Given the description of an element on the screen output the (x, y) to click on. 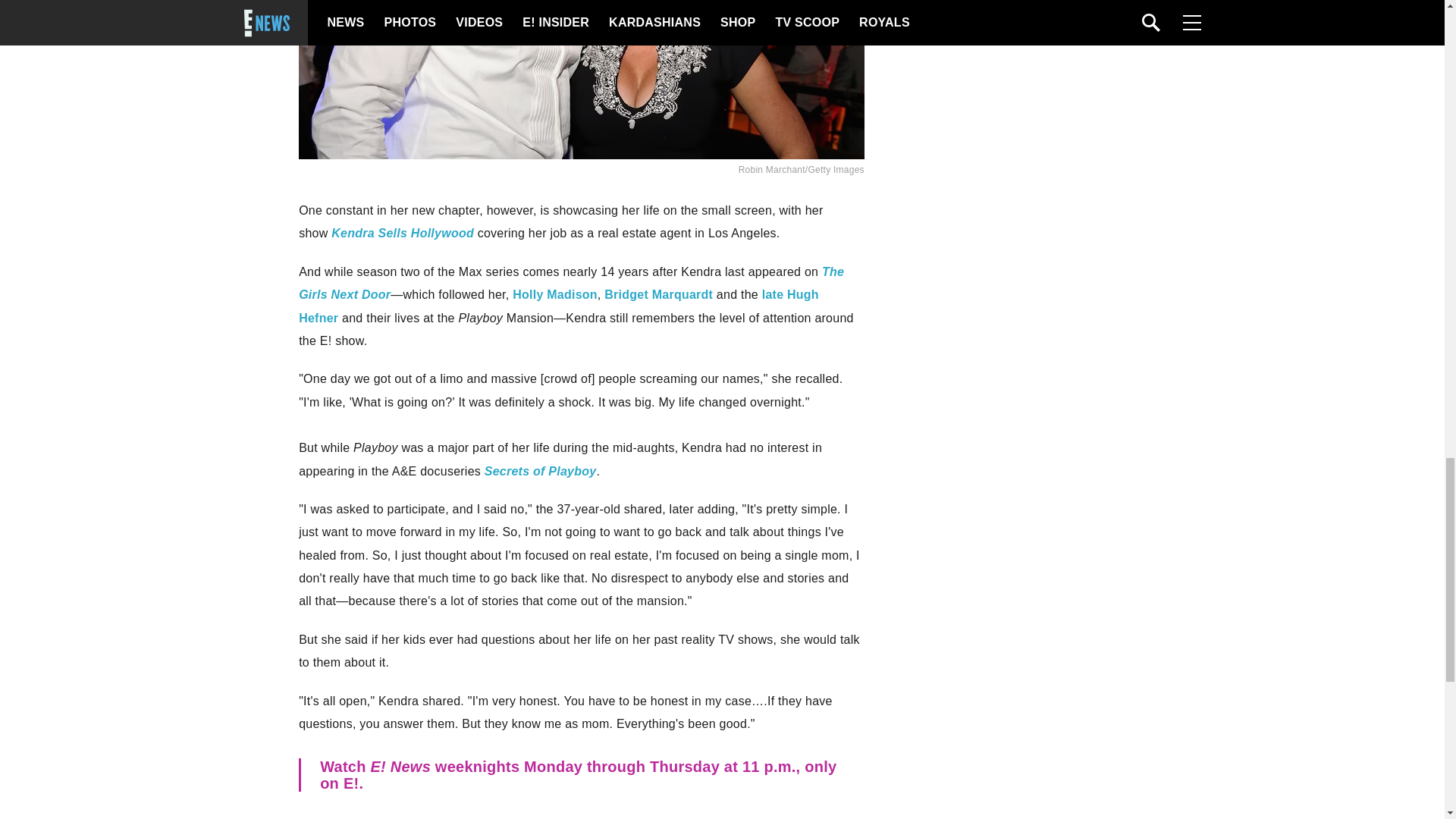
The Girls Next Door (571, 283)
Kendra Sells Hollywood (402, 232)
late (772, 294)
Bridget Marquardt (658, 294)
Holly Madison (554, 294)
Hugh Hefner (558, 305)
